Given the description of an element on the screen output the (x, y) to click on. 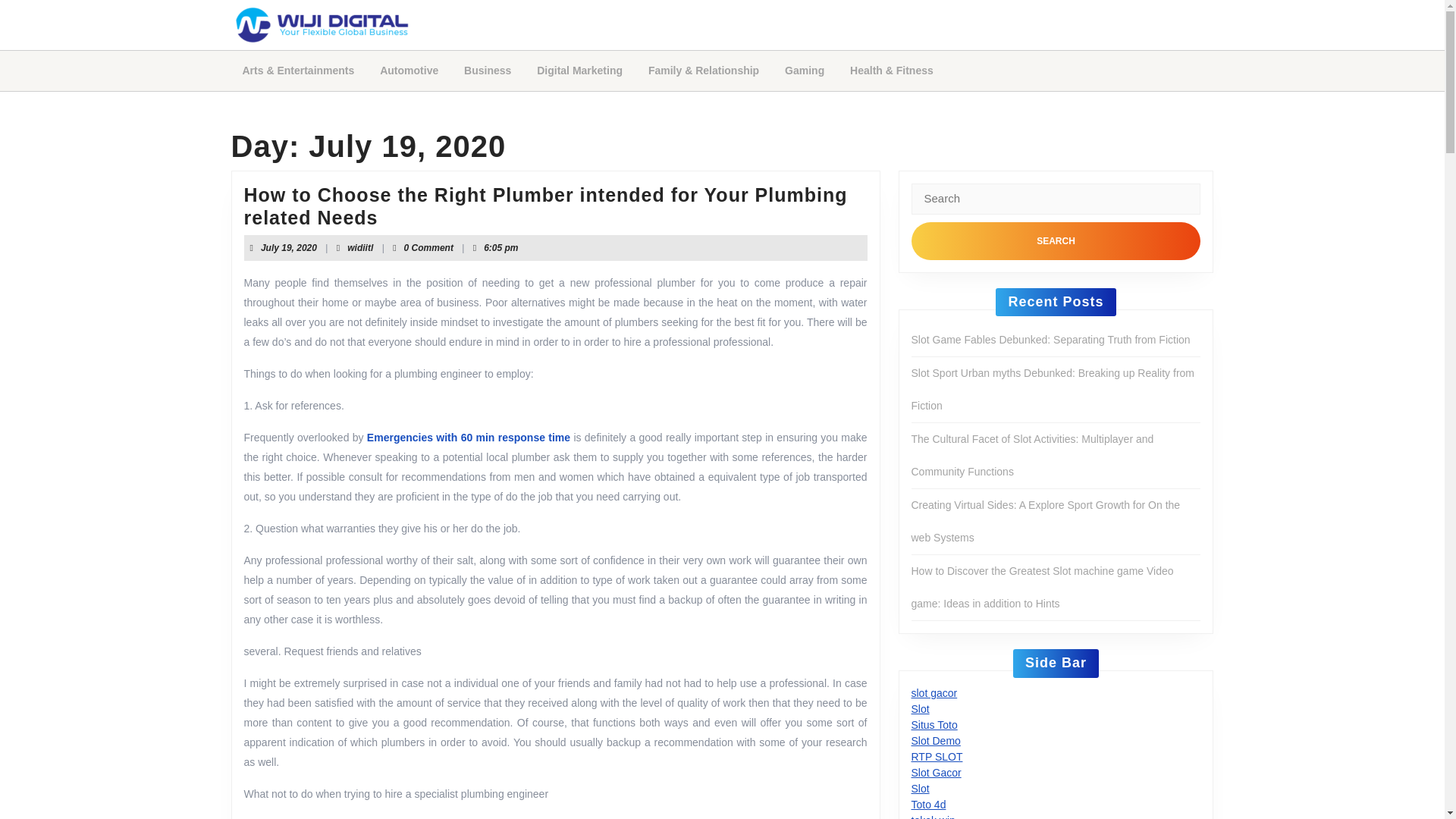
Digital Marketing (288, 247)
Automotive (579, 70)
Business (408, 70)
Search (487, 70)
Search (1056, 240)
Search (1056, 240)
